Given the description of an element on the screen output the (x, y) to click on. 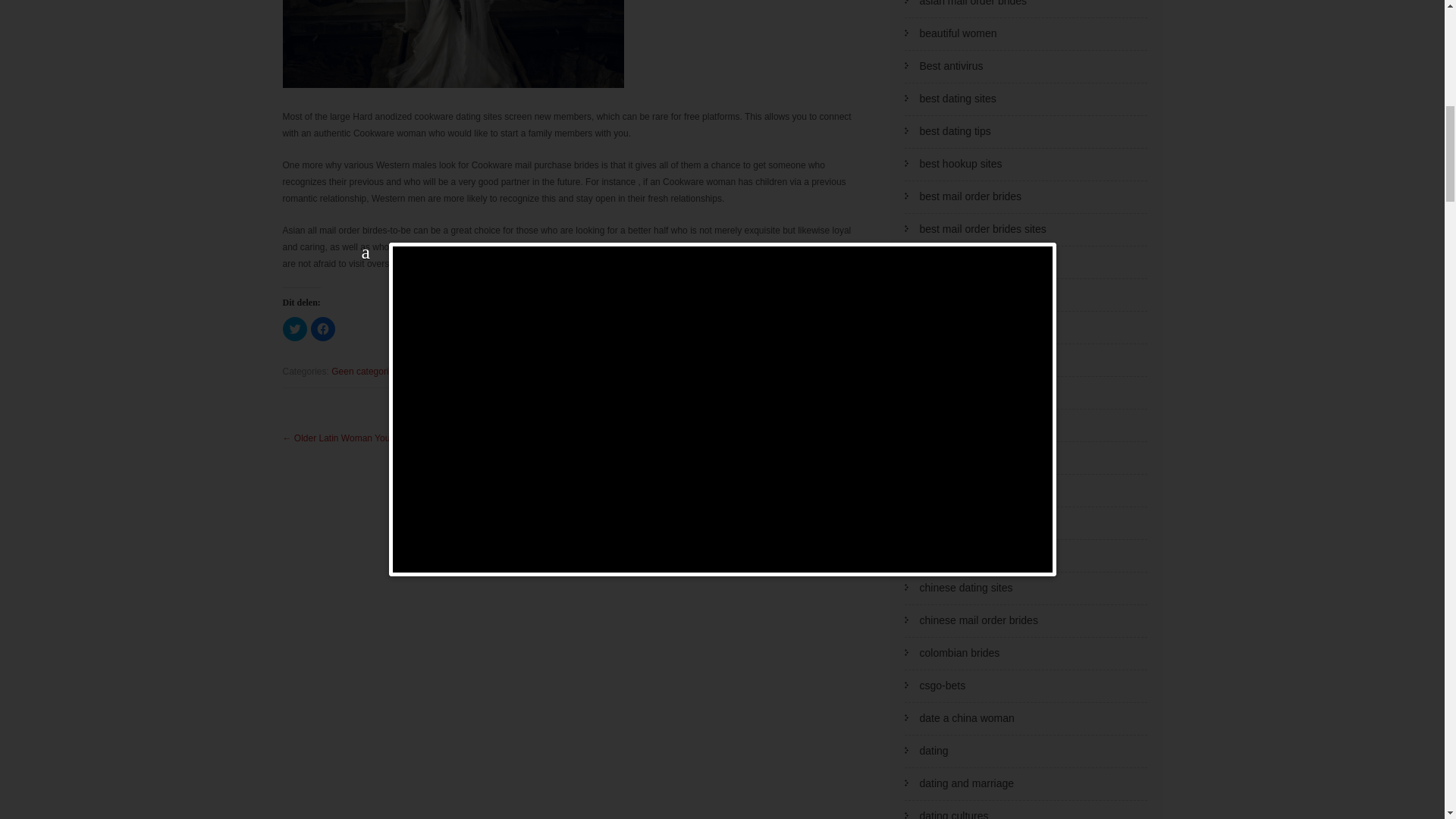
beautiful women (956, 33)
best dating tips (954, 131)
View all posts in Geen categorie (362, 371)
Geen categorie (362, 371)
Klik om te delen op Facebook (322, 328)
best dating sites (956, 98)
best hookup sites (959, 163)
Best antivirus (950, 65)
Klik om te delen met Twitter (293, 328)
asian mail order brides (972, 3)
